Given the description of an element on the screen output the (x, y) to click on. 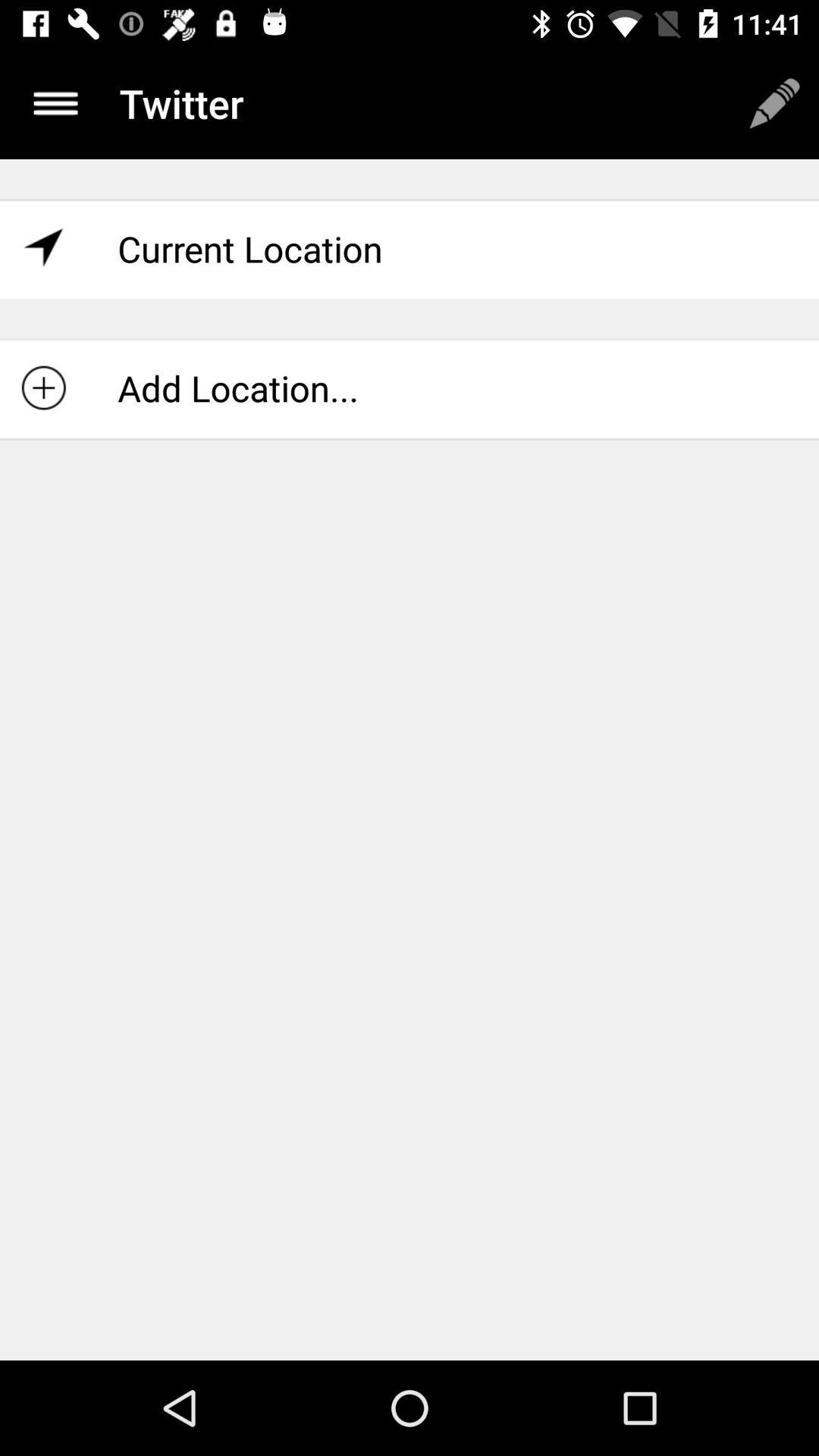
launch icon to the right of twitter icon (774, 103)
